Given the description of an element on the screen output the (x, y) to click on. 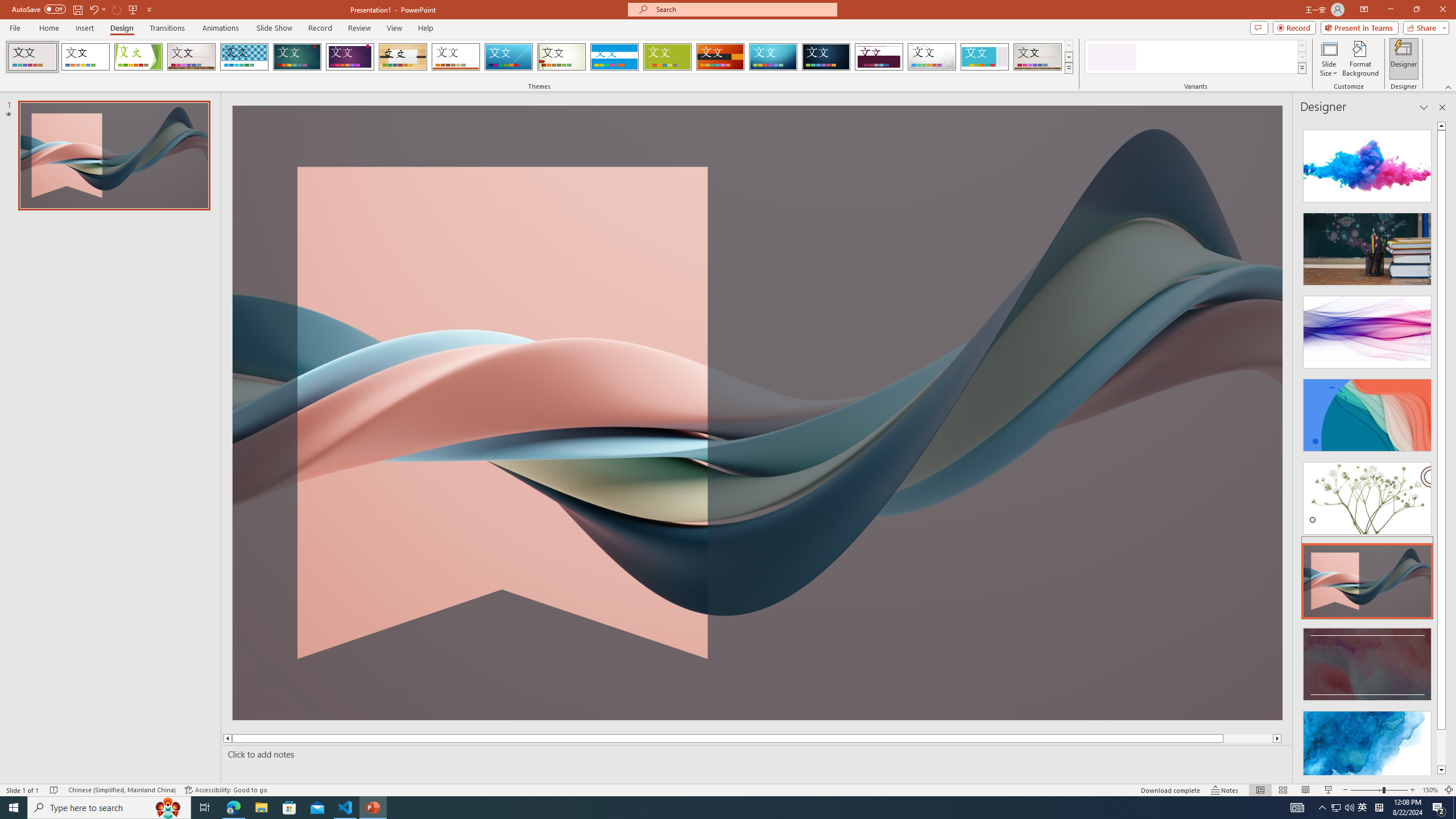
Dividend (879, 56)
Organic (403, 56)
Integral (244, 56)
